Given the description of an element on the screen output the (x, y) to click on. 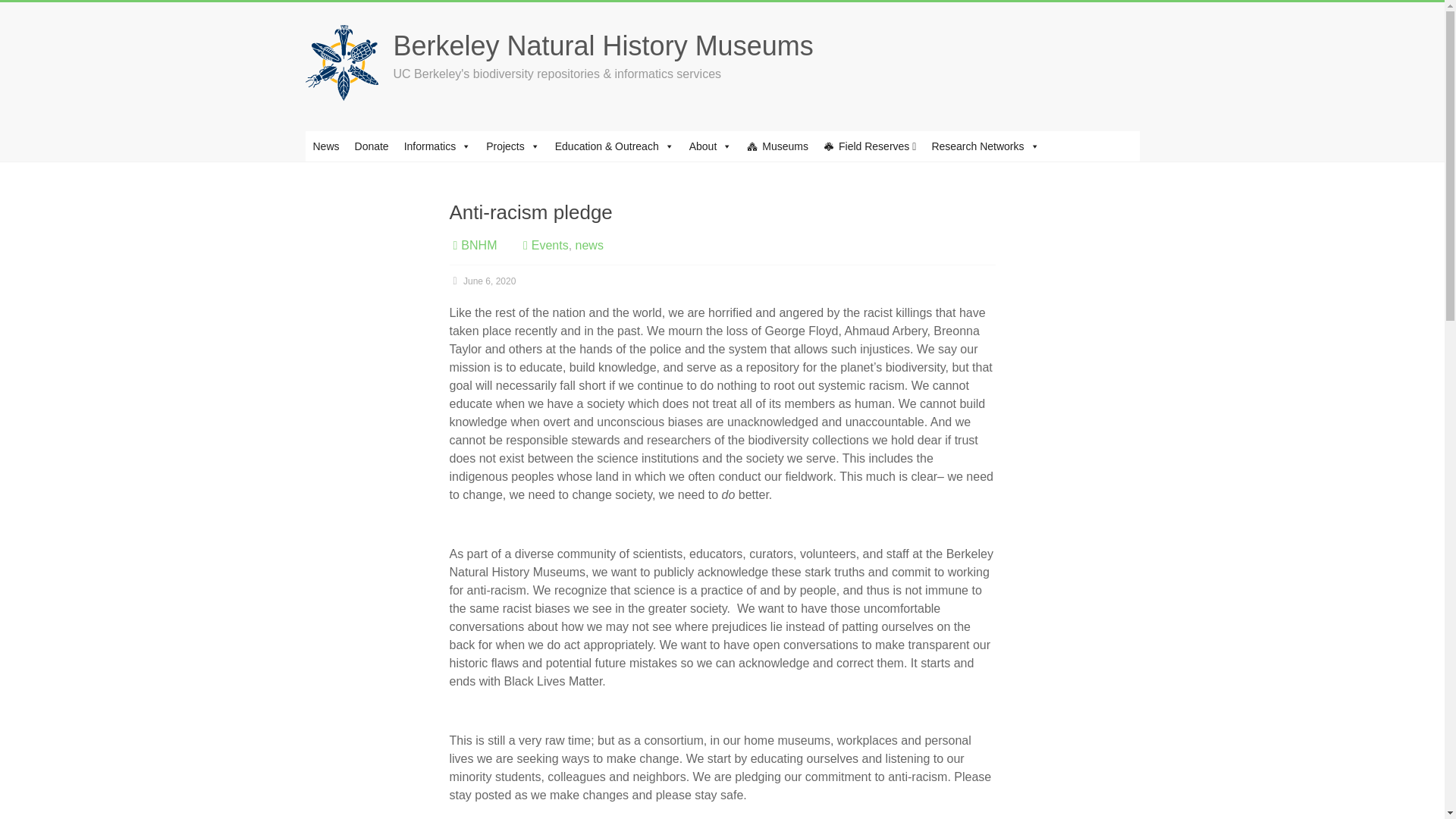
12:11 am (481, 281)
Donate (371, 146)
Informatics (437, 146)
BNHM (478, 245)
Museums (777, 146)
Projects (513, 146)
About (710, 146)
News (325, 146)
Berkeley Natural History Museums (602, 45)
Berkeley Natural History Museums (602, 45)
